Given the description of an element on the screen output the (x, y) to click on. 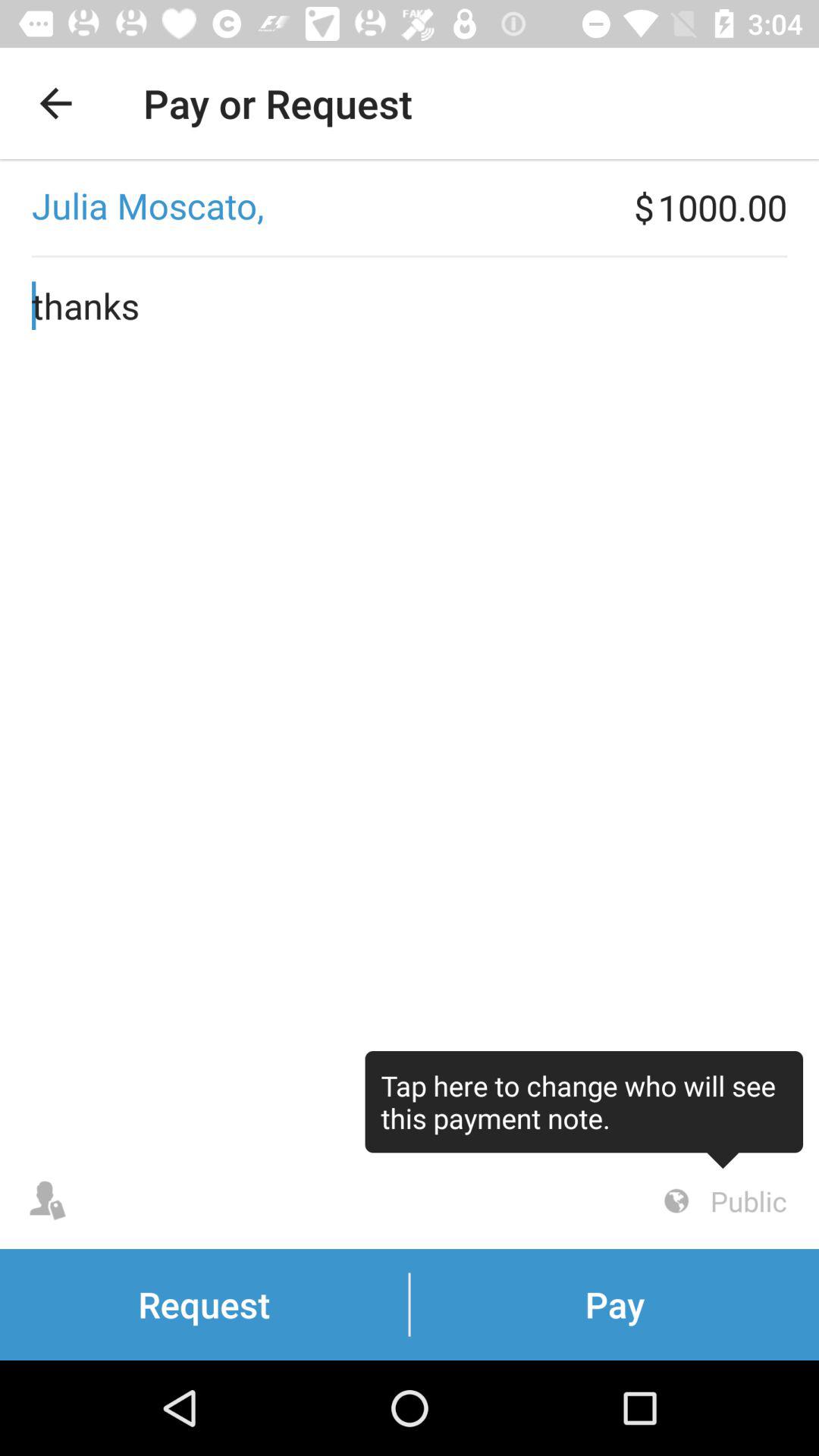
launch the 1000.00 icon (738, 207)
